Given the description of an element on the screen output the (x, y) to click on. 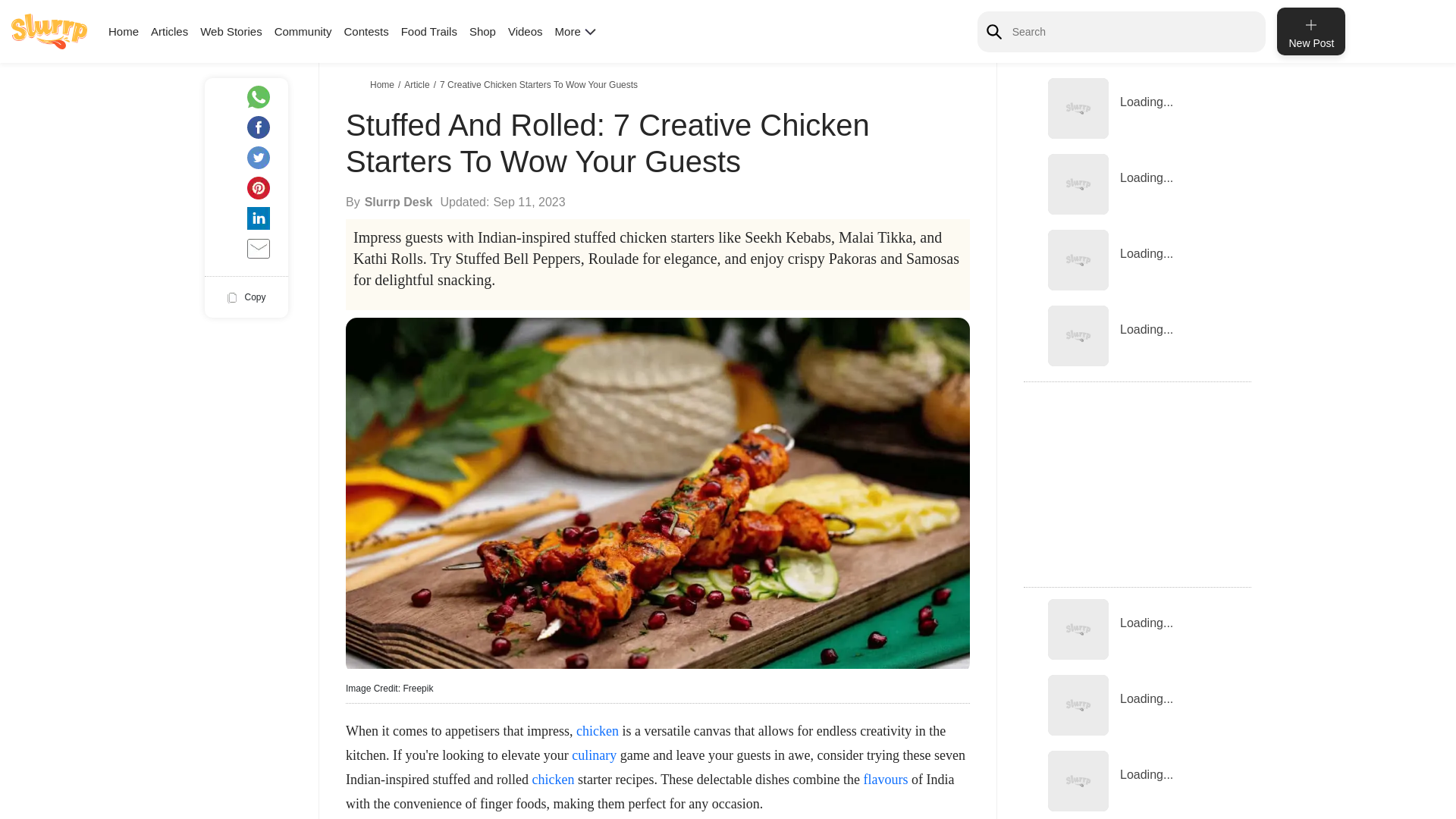
Web Stories (231, 31)
Home (383, 84)
Food Trails (429, 31)
Videos (525, 31)
New Post (1310, 31)
Articles (169, 31)
Community (303, 31)
Home (122, 31)
Contests (365, 31)
Shop (482, 31)
Article (418, 84)
